Given the description of an element on the screen output the (x, y) to click on. 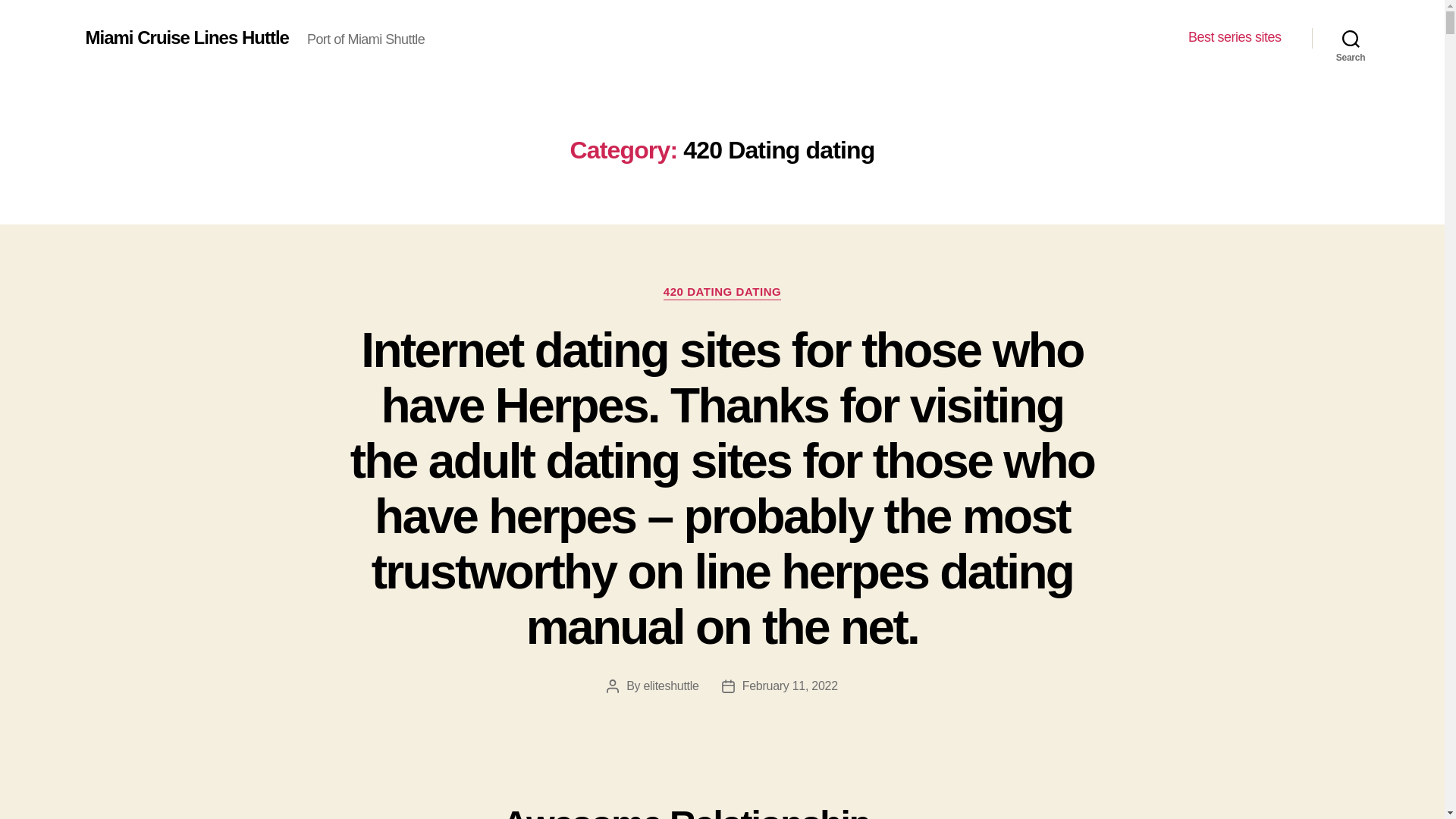
Miami Cruise Lines Huttle (186, 37)
eliteshuttle (670, 685)
Search (1350, 37)
February 11, 2022 (790, 685)
Best series sites (1234, 37)
420 DATING DATING (721, 292)
